Given the description of an element on the screen output the (x, y) to click on. 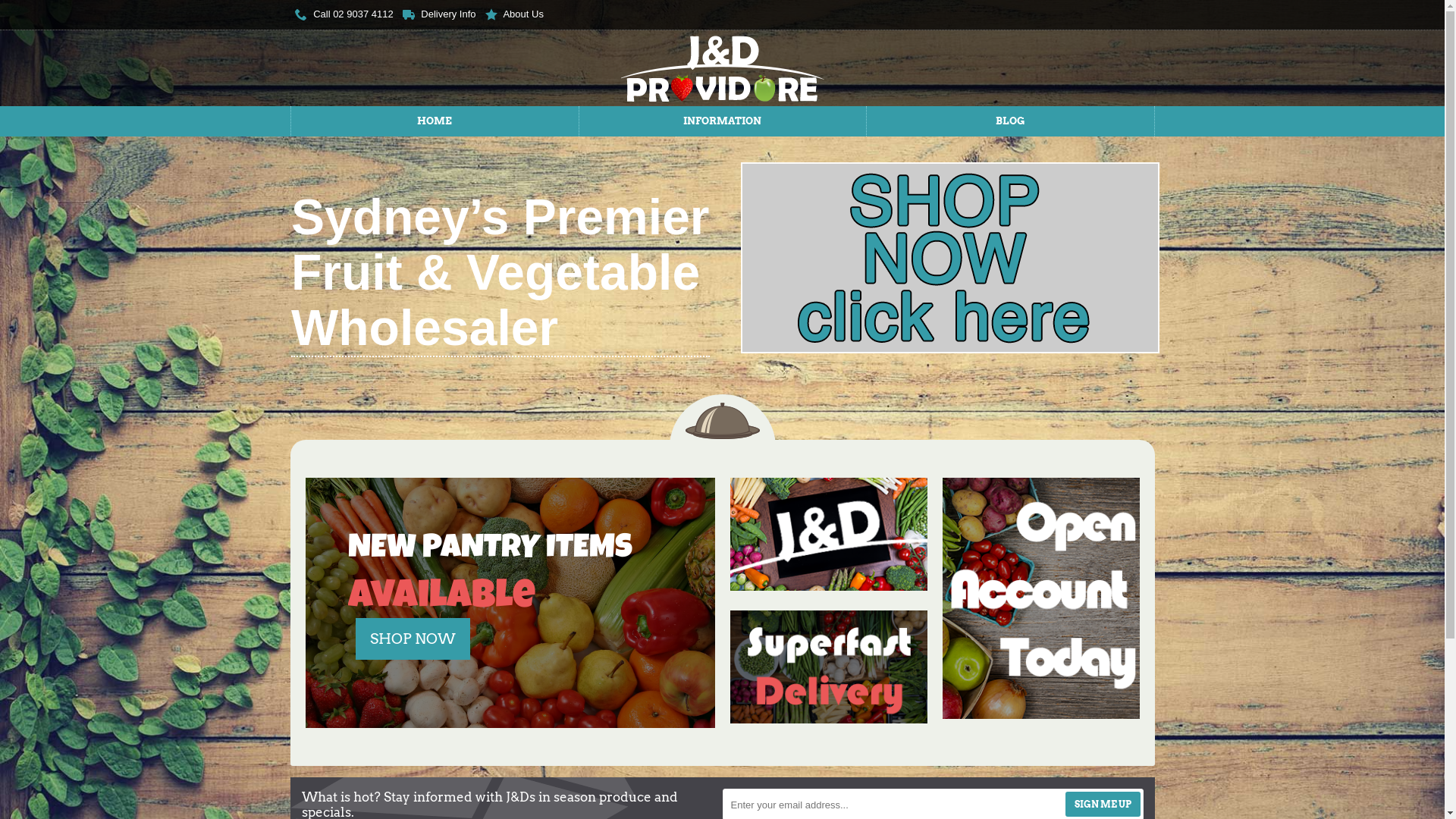
About Us Element type: text (514, 15)
HOME Element type: text (434, 121)
INFORMATION Element type: text (722, 121)
BLOG Element type: text (1009, 121)
J&D Providore Element type: hover (721, 68)
Delivery Info Element type: text (439, 15)
Call 02 9037 4112 Element type: text (343, 15)
SIGN ME UP Element type: text (1101, 803)
SHOP NOW Element type: text (412, 638)
